Given the description of an element on the screen output the (x, y) to click on. 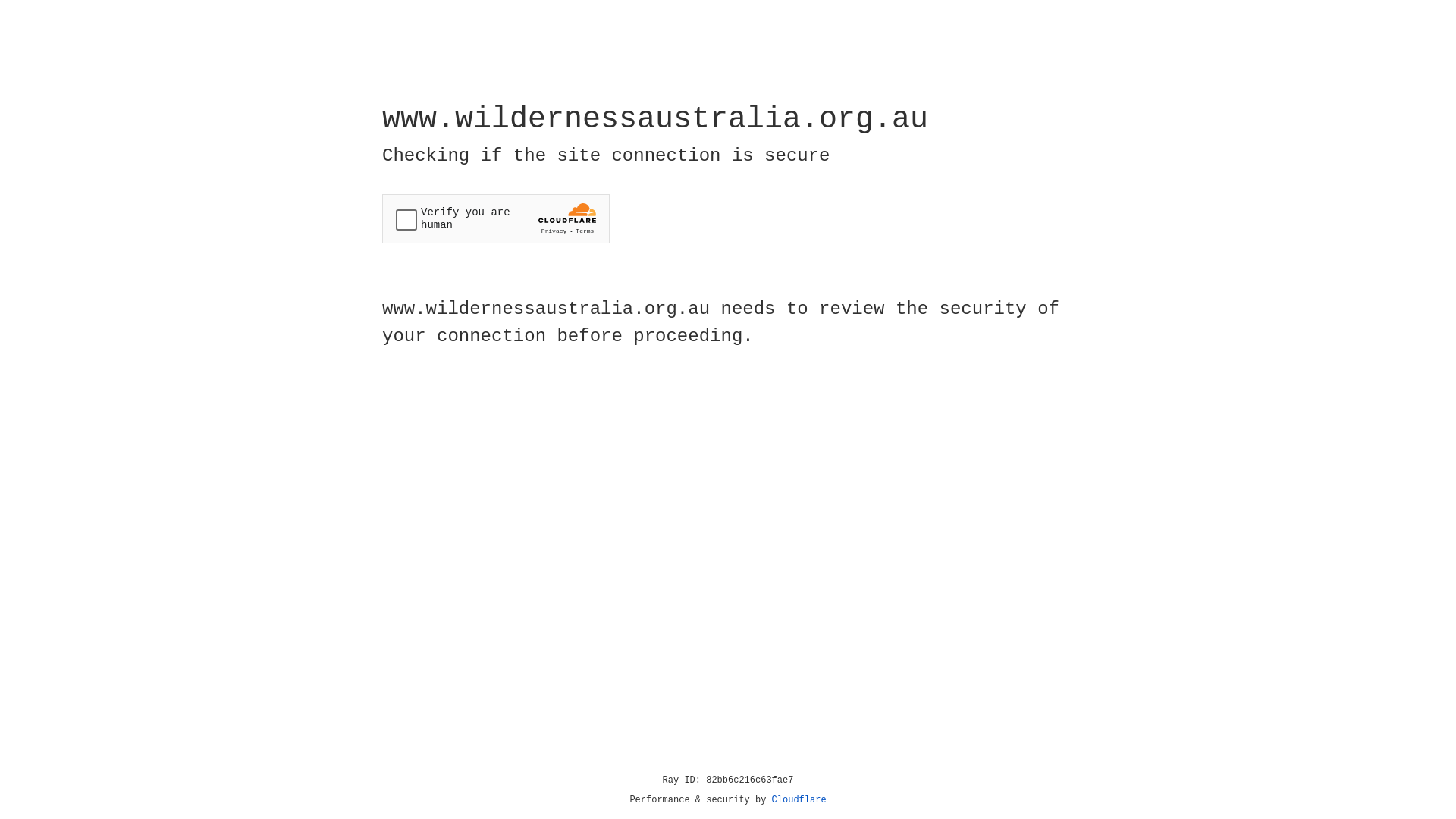
Widget containing a Cloudflare security challenge Element type: hover (495, 218)
Cloudflare Element type: text (798, 799)
